Given the description of an element on the screen output the (x, y) to click on. 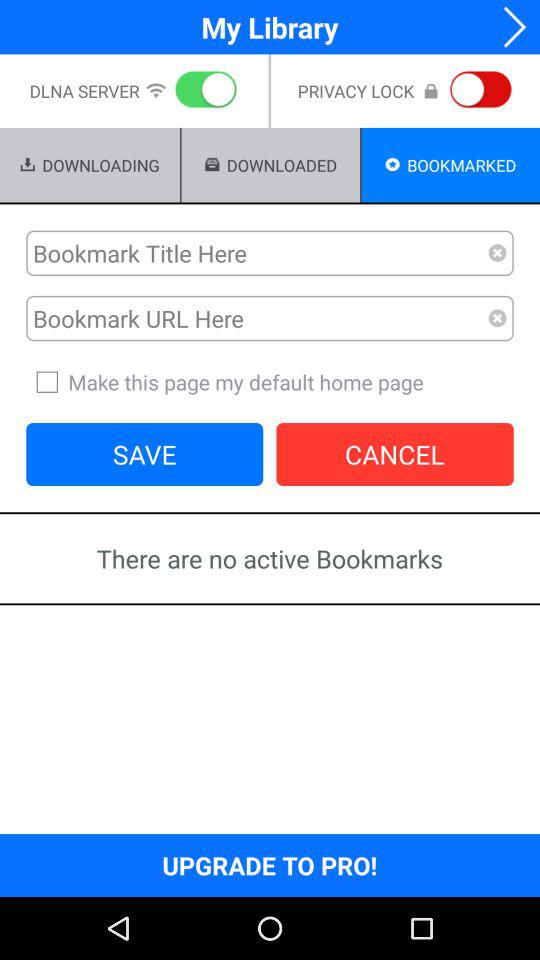
launch the app next to my library app (508, 26)
